Given the description of an element on the screen output the (x, y) to click on. 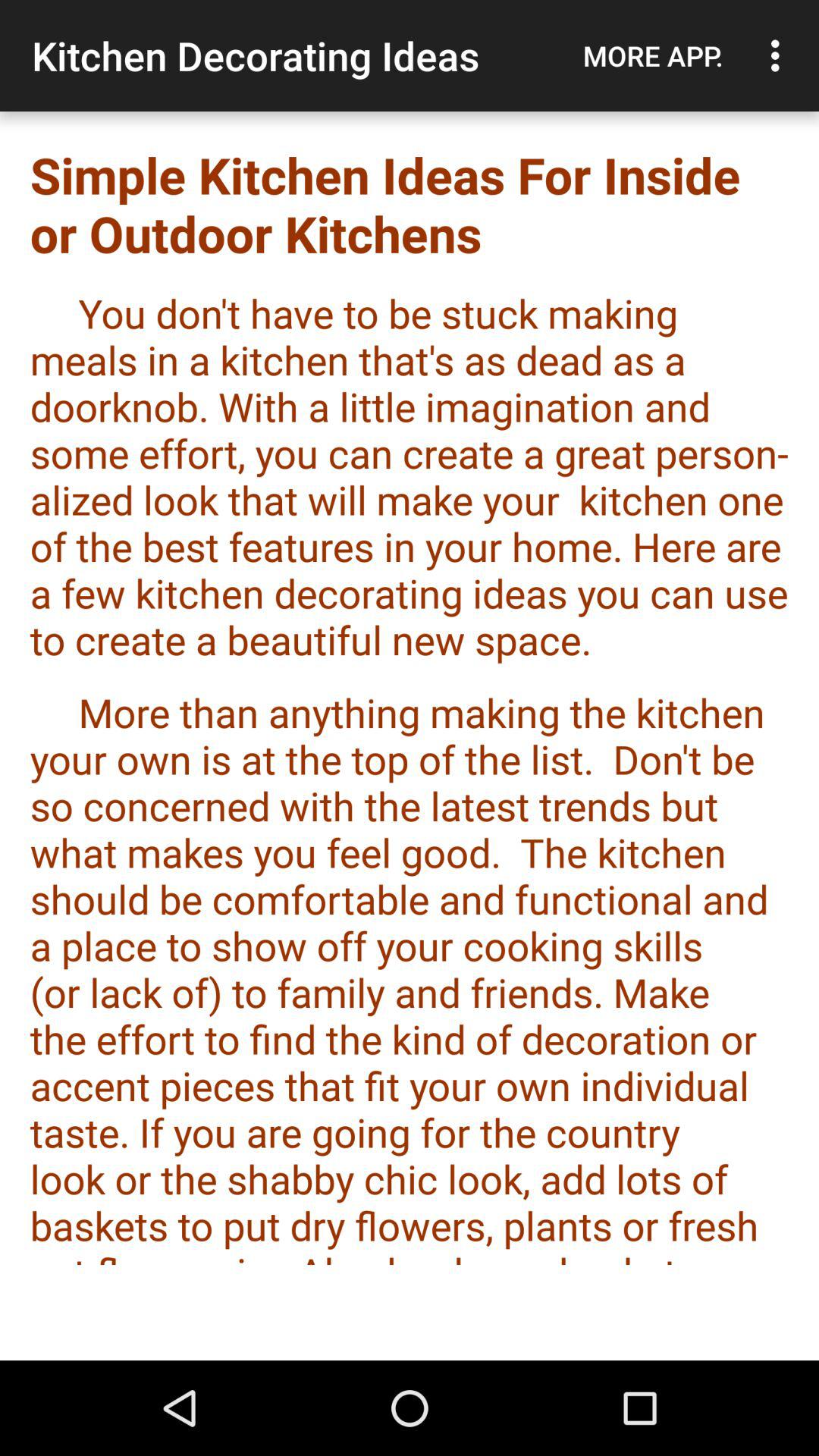
open the more app. icon (653, 55)
